Given the description of an element on the screen output the (x, y) to click on. 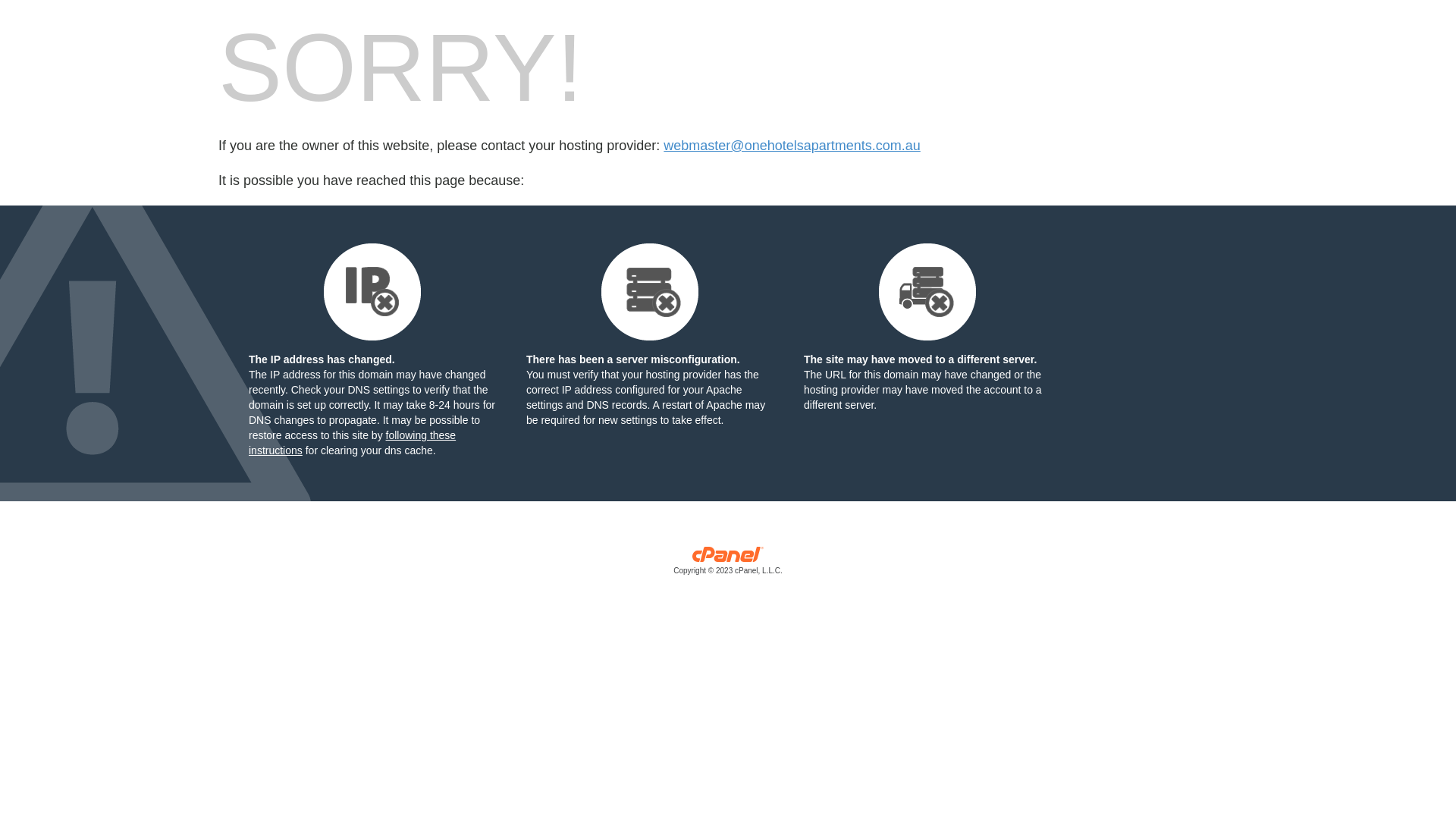
webmaster@onehotelsapartments.com.au Element type: text (791, 145)
following these instructions Element type: text (351, 442)
